Given the description of an element on the screen output the (x, y) to click on. 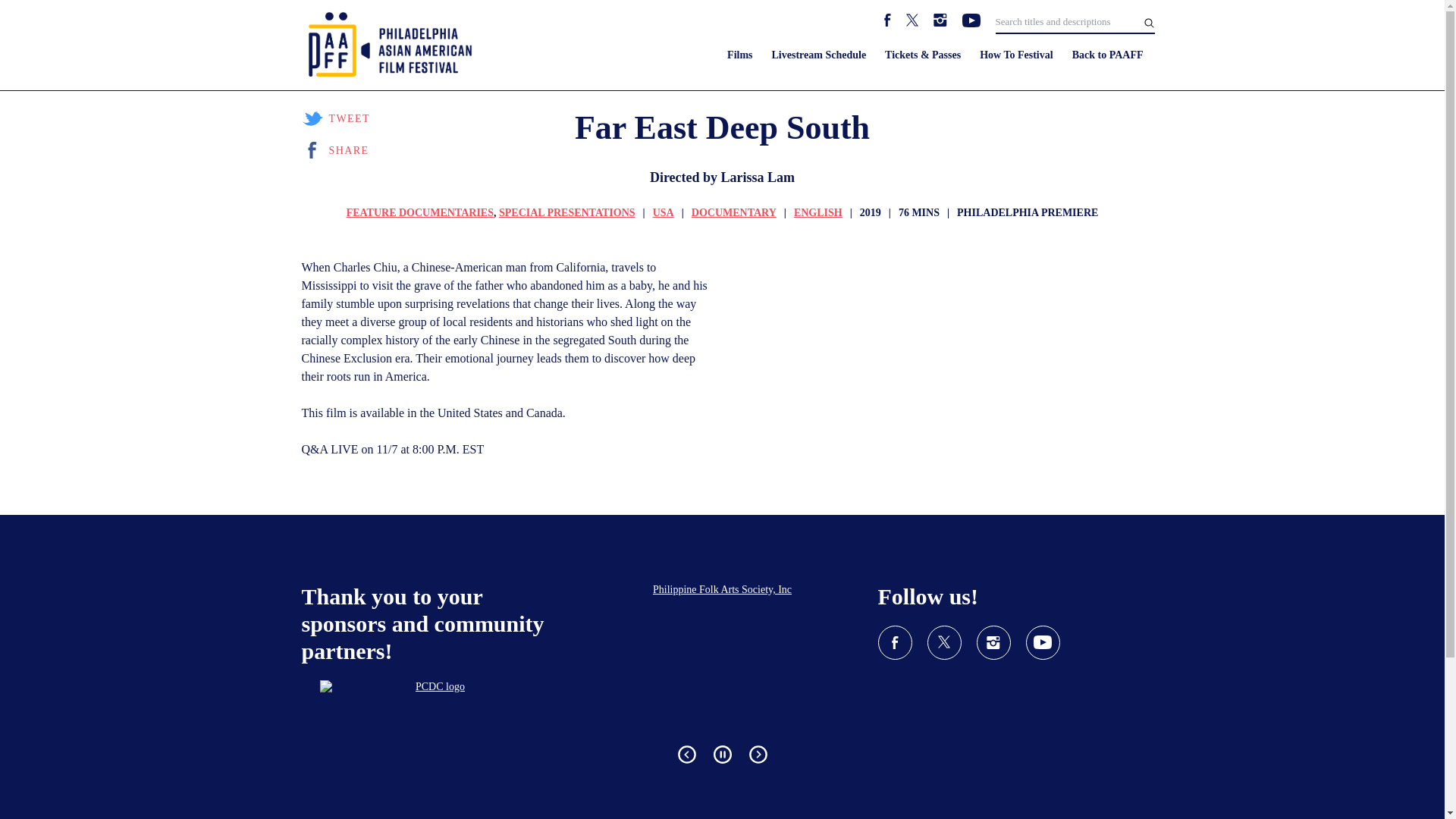
Livestream Schedule (818, 54)
How To Festival (1015, 54)
ENGLISH (818, 212)
SPECIAL PRESENTATIONS (566, 212)
FEATURE DOCUMENTARIES (419, 212)
WATCH TRAILER (988, 69)
Back to PAAFF (1106, 54)
Films (739, 54)
DOCUMENTARY (733, 212)
SHARE (335, 149)
